Given the description of an element on the screen output the (x, y) to click on. 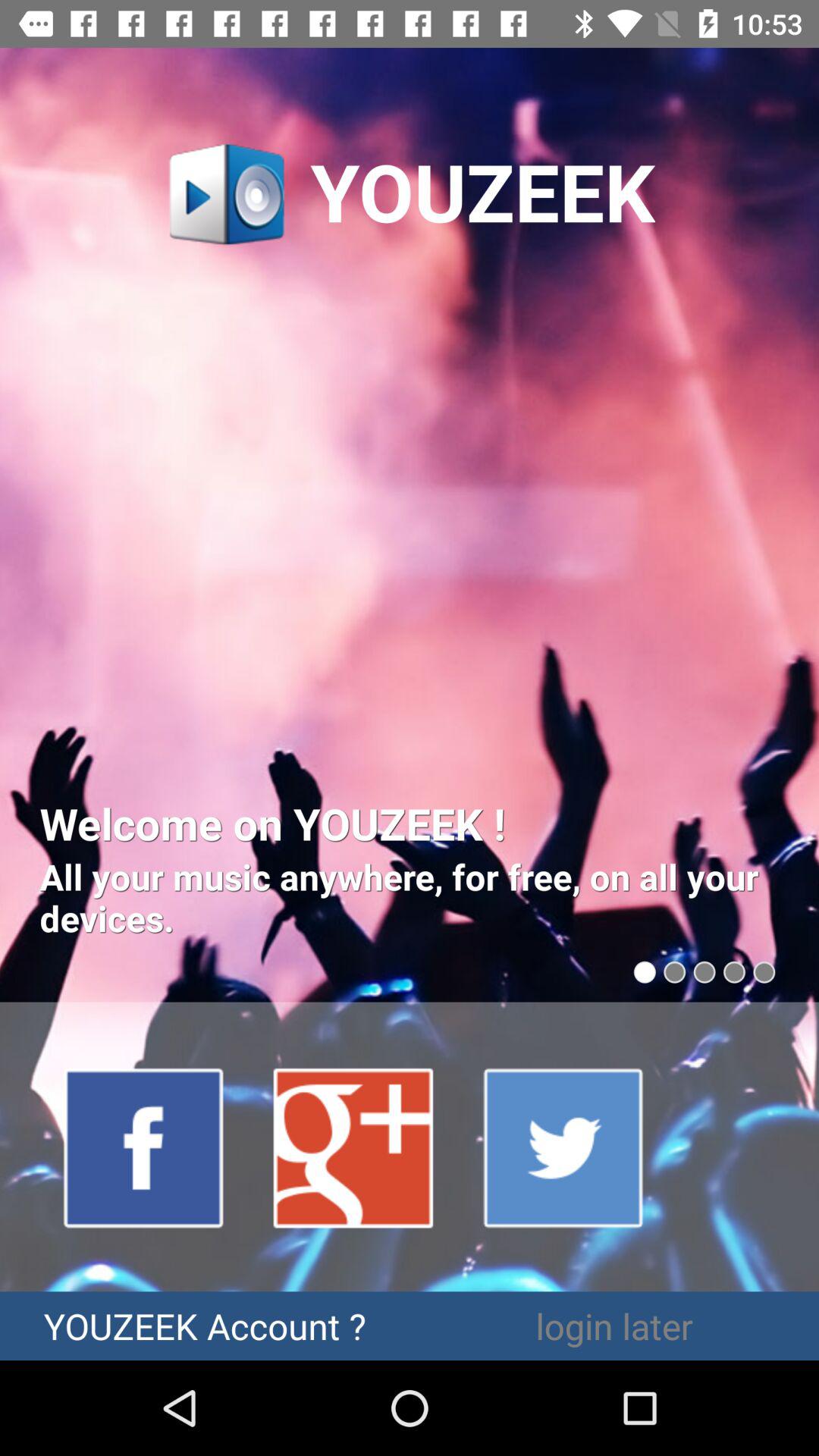
open the icon below the all your music (354, 1146)
